Given the description of an element on the screen output the (x, y) to click on. 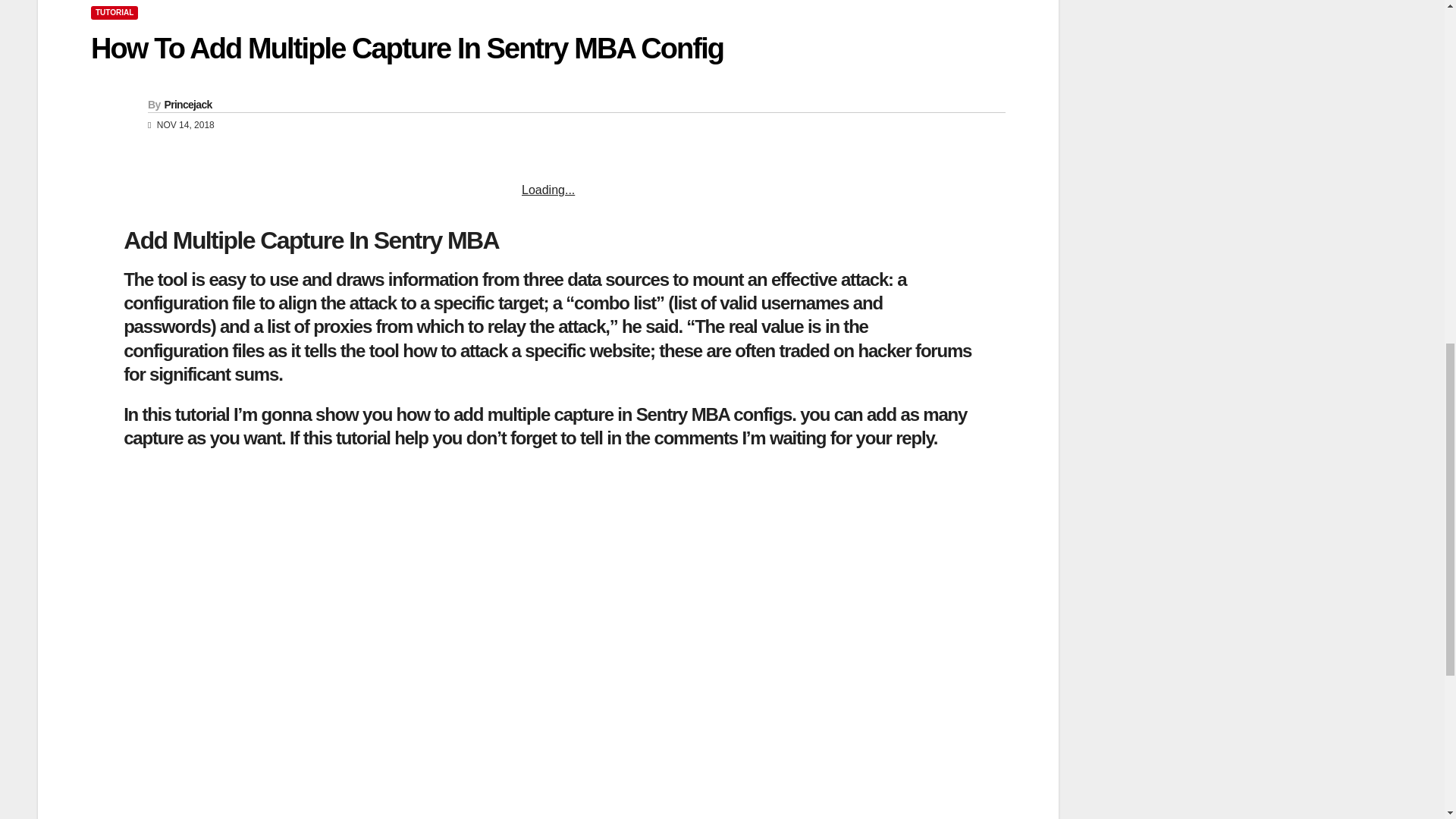
Princejack (187, 104)
How To Add Multiple Capture In Sentry MBA Config (406, 48)
TUTORIAL (114, 12)
